Given the description of an element on the screen output the (x, y) to click on. 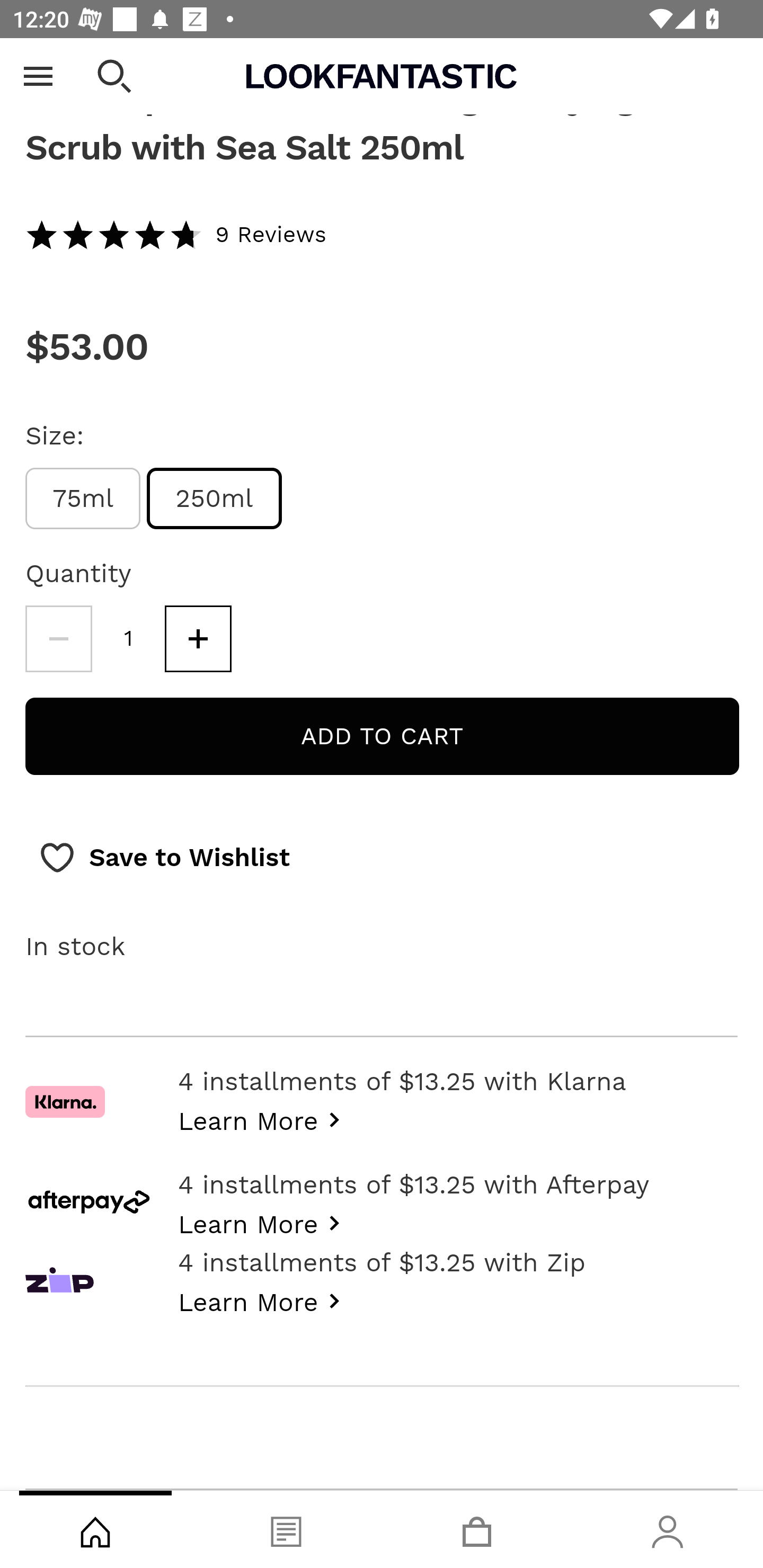
75ml (83, 499)
250ml selected (214, 499)
Decrease quantity (58, 639)
1, Quantity (128, 639)
Increase quantity (197, 639)
Add to cart (382, 737)
Save to Wishlist (164, 859)
Learn More about klarna_slice (263, 1119)
Learn More about afterpay (263, 1222)
Learn More about quadpay (263, 1300)
Shop, tab, 1 of 4 (95, 1529)
Blog, tab, 2 of 4 (285, 1529)
Basket, tab, 3 of 4 (476, 1529)
Account, tab, 4 of 4 (667, 1529)
